Given the description of an element on the screen output the (x, y) to click on. 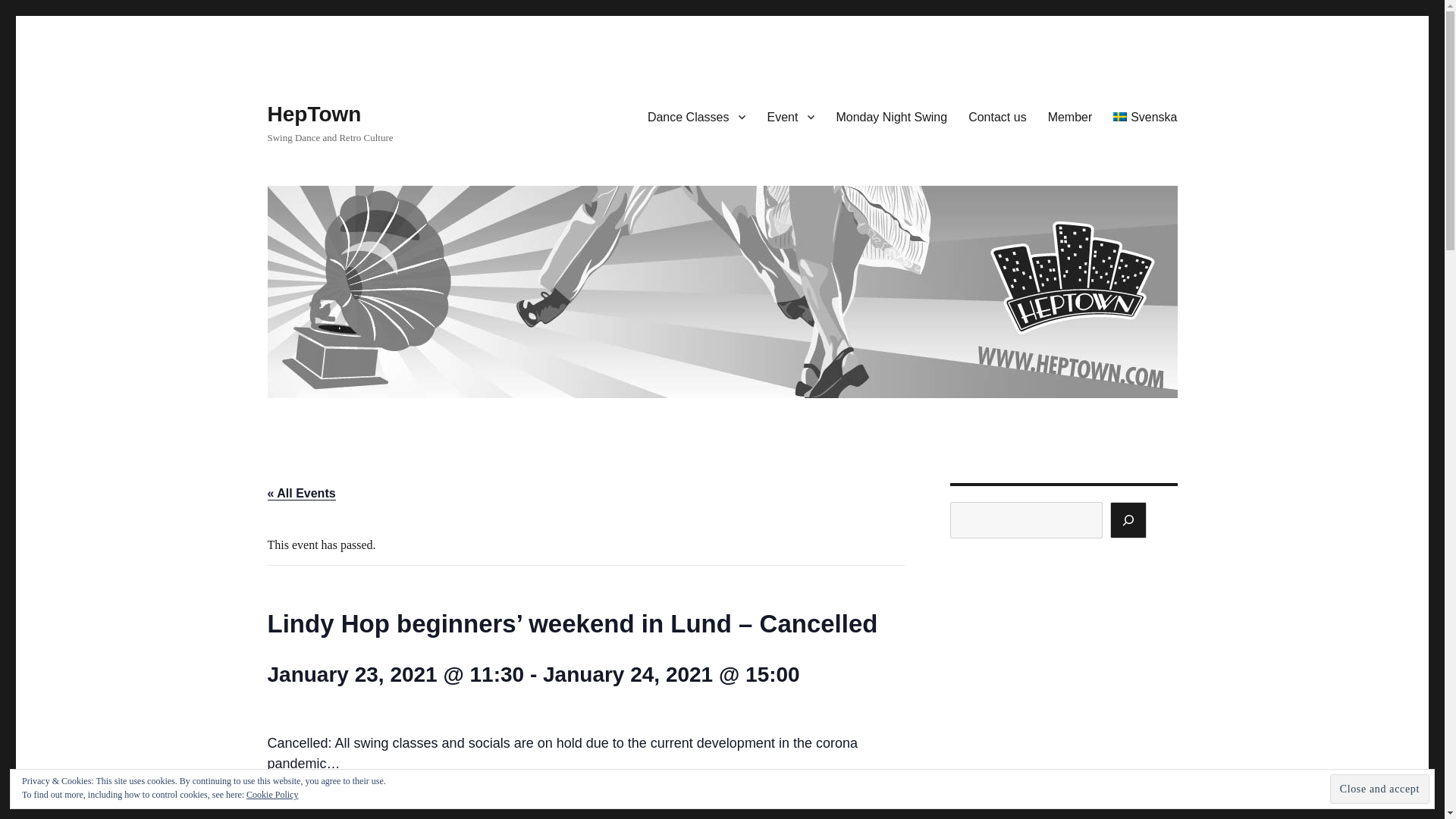
Event (790, 116)
Svenska (1145, 116)
Member (1069, 116)
Svenska (1145, 116)
Close and accept (1379, 788)
Dance Classes (697, 116)
Monday Night Swing (891, 116)
Contact us (997, 116)
HepTown (313, 114)
